Given the description of an element on the screen output the (x, y) to click on. 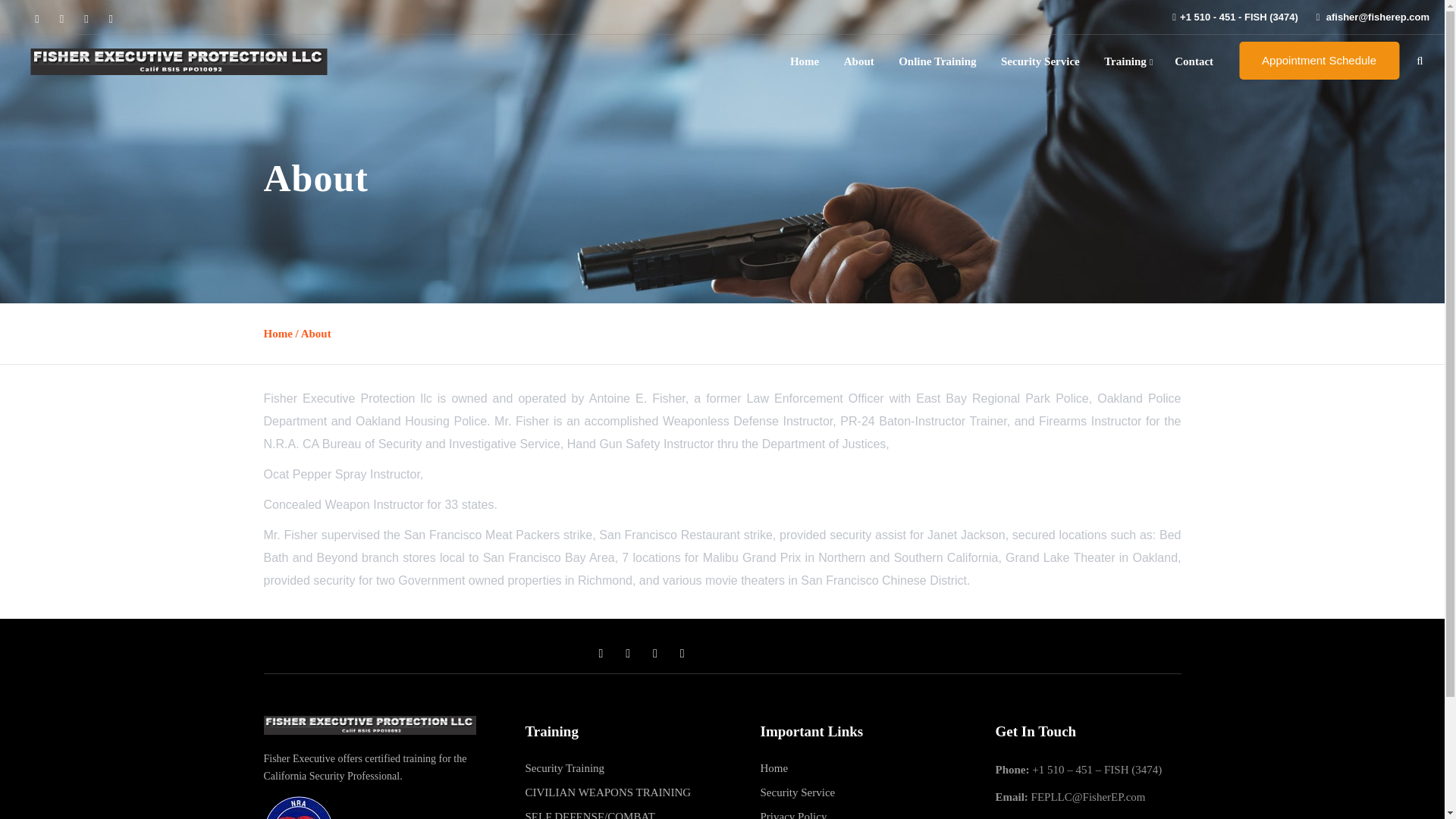
linkedin (86, 17)
facebook (37, 17)
Appointment Schedule (1319, 60)
Security Service (1040, 61)
Security Training (564, 768)
Search (22, 18)
Online Training (936, 61)
twitter (60, 17)
Privacy Policy (793, 813)
CIVILIAN WEAPONS TRAINING (607, 792)
Security Service (797, 792)
Home (773, 768)
Home (277, 333)
instagram (110, 17)
